Given the description of an element on the screen output the (x, y) to click on. 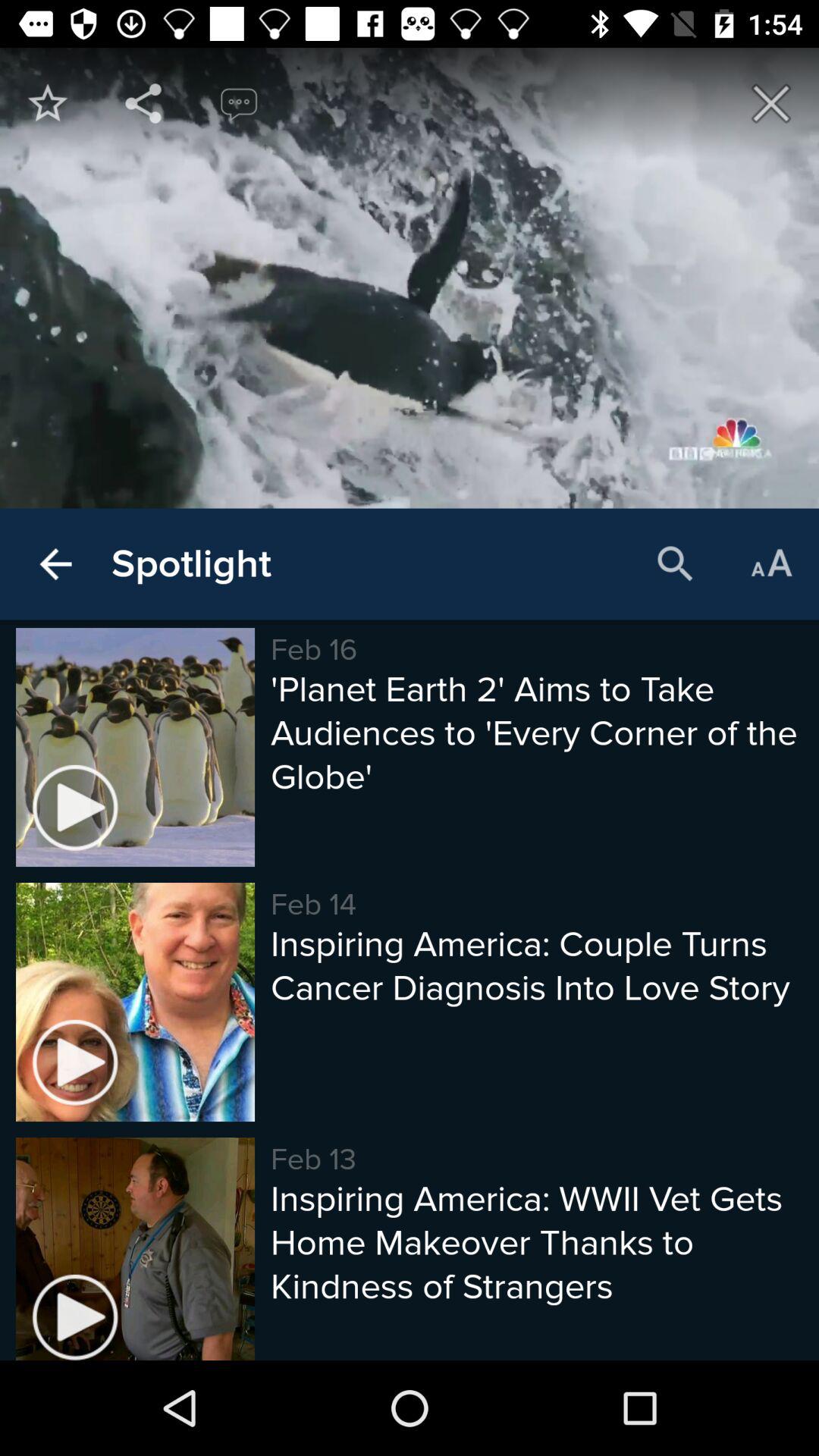
turn on the item to the left of the feb 16 item (191, 563)
